Given the description of an element on the screen output the (x, y) to click on. 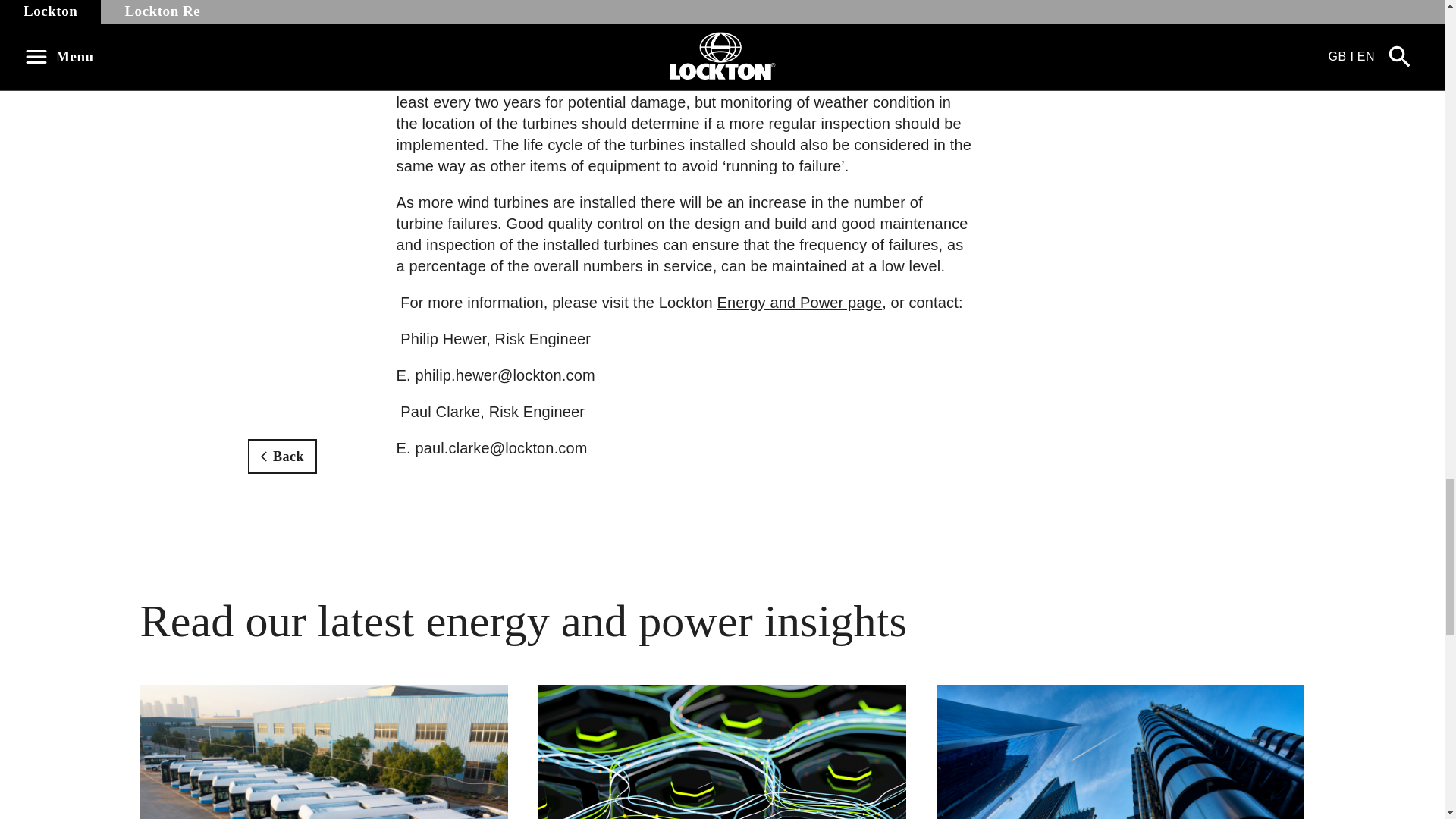
Back (282, 456)
